Given the description of an element on the screen output the (x, y) to click on. 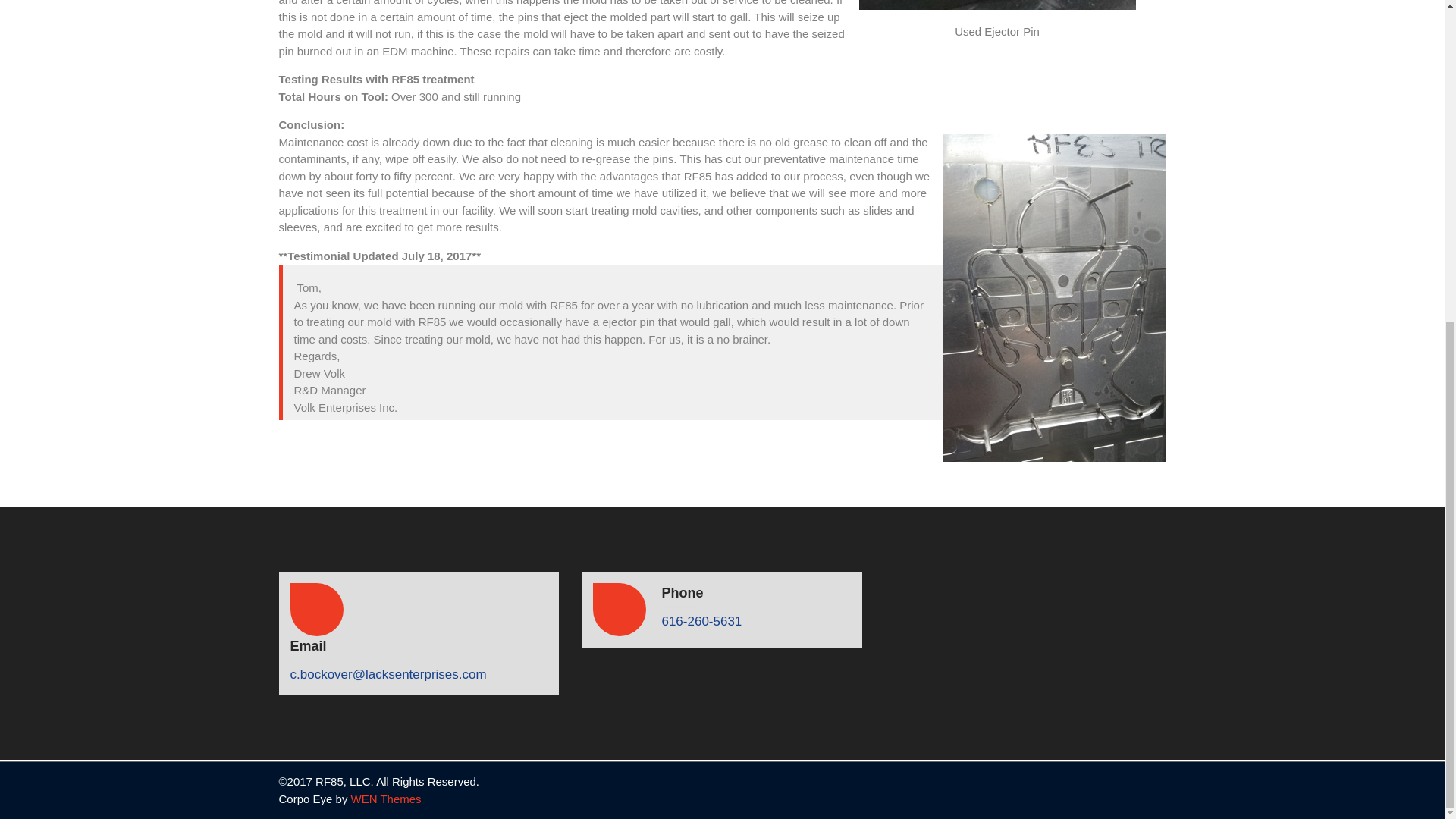
616-260-5631 (701, 621)
